Given the description of an element on the screen output the (x, y) to click on. 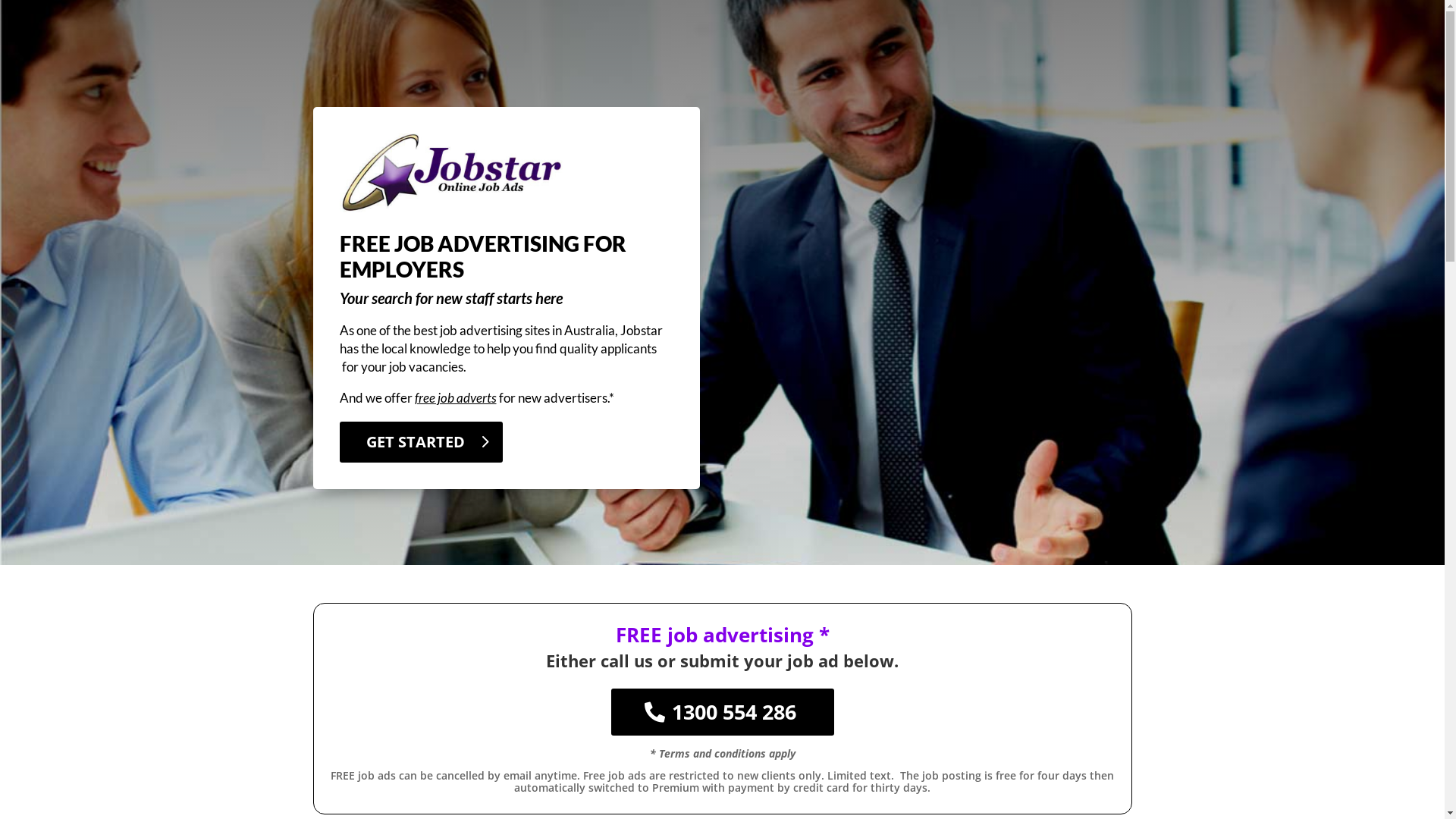
logo1-transb Element type: hover (453, 172)
1300 554 286 Element type: text (722, 711)
GET STARTED Element type: text (420, 441)
